Given the description of an element on the screen output the (x, y) to click on. 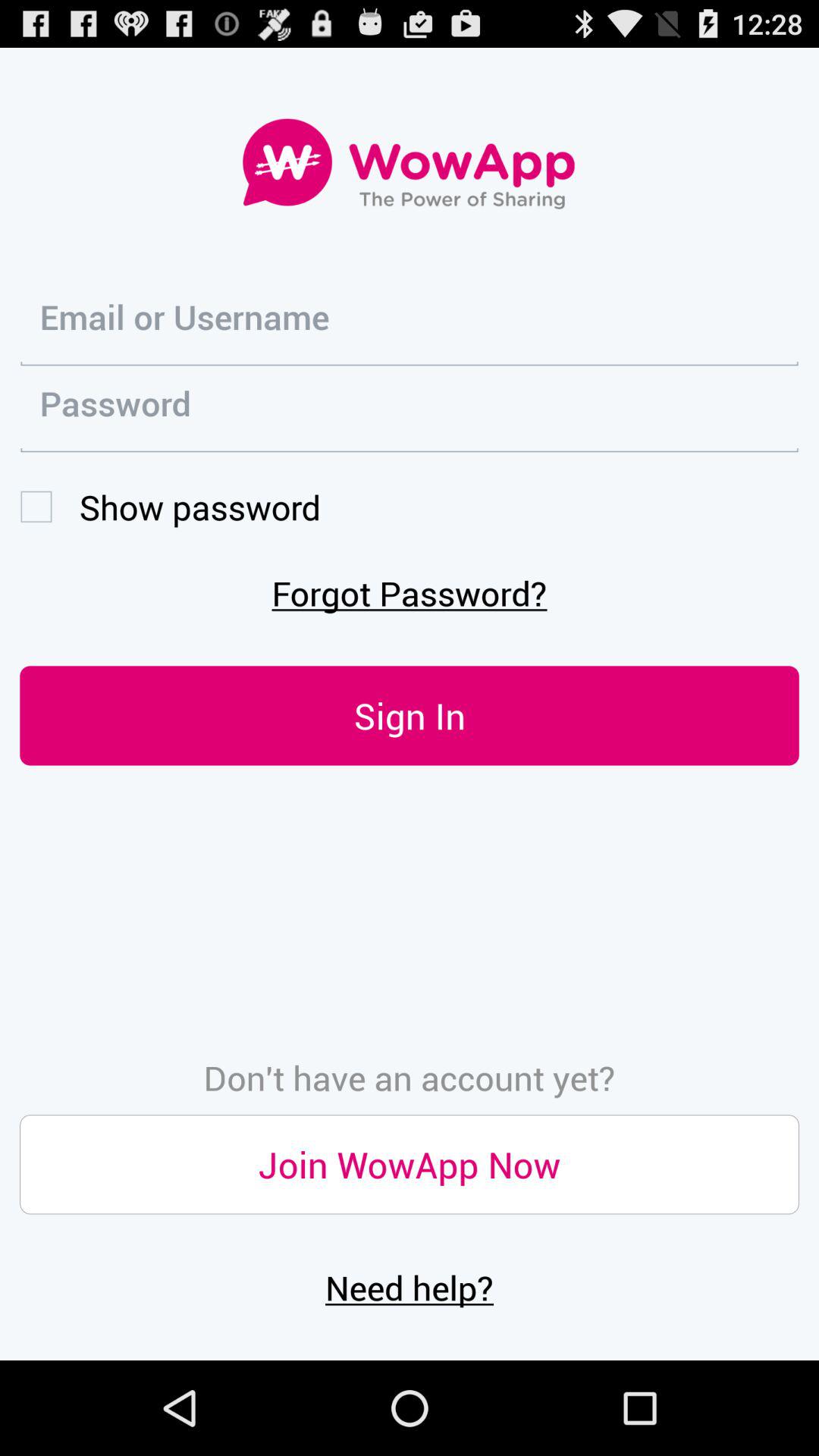
select checkbox below show password icon (409, 592)
